Given the description of an element on the screen output the (x, y) to click on. 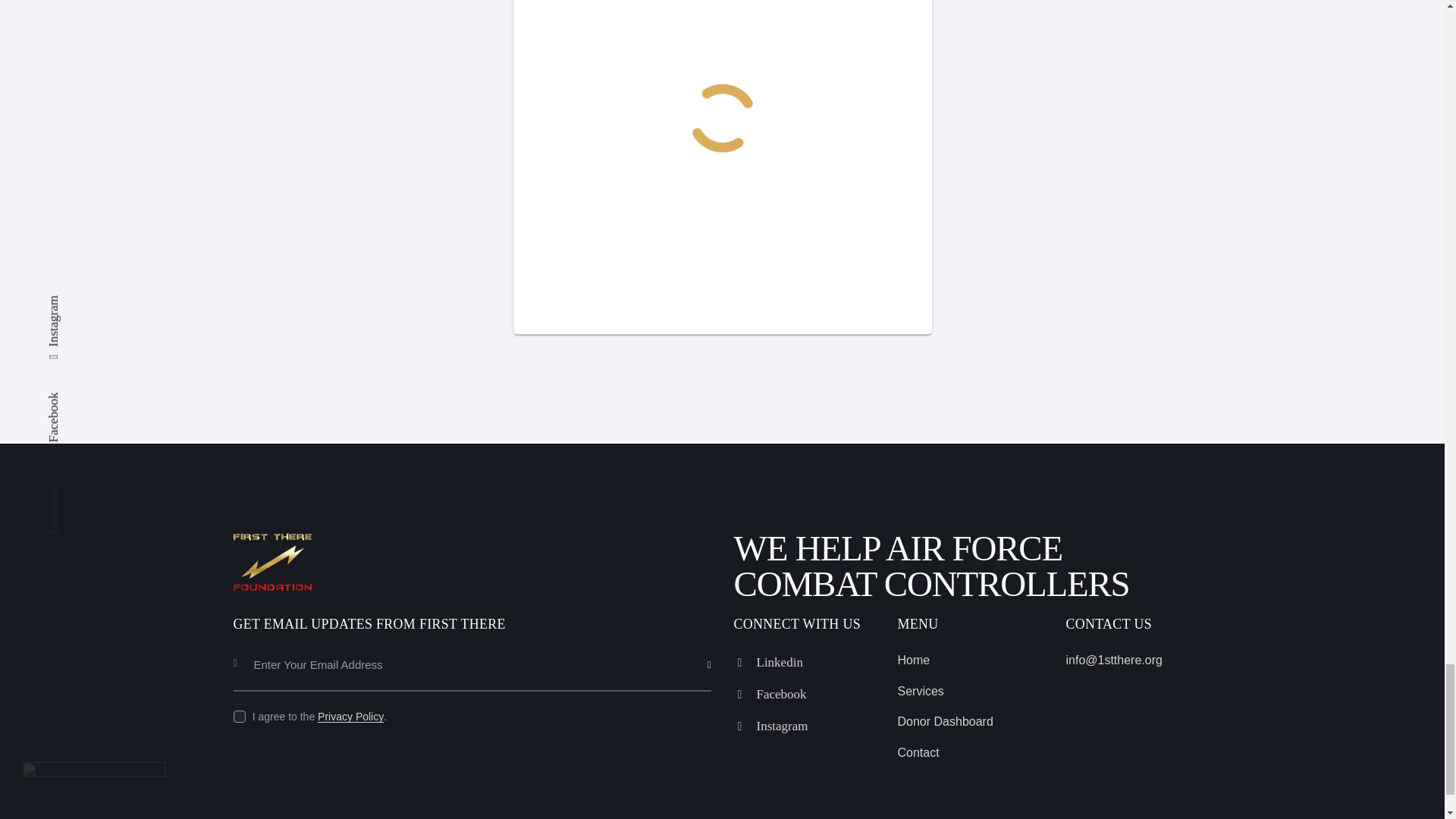
1 (715, 643)
